Given the description of an element on the screen output the (x, y) to click on. 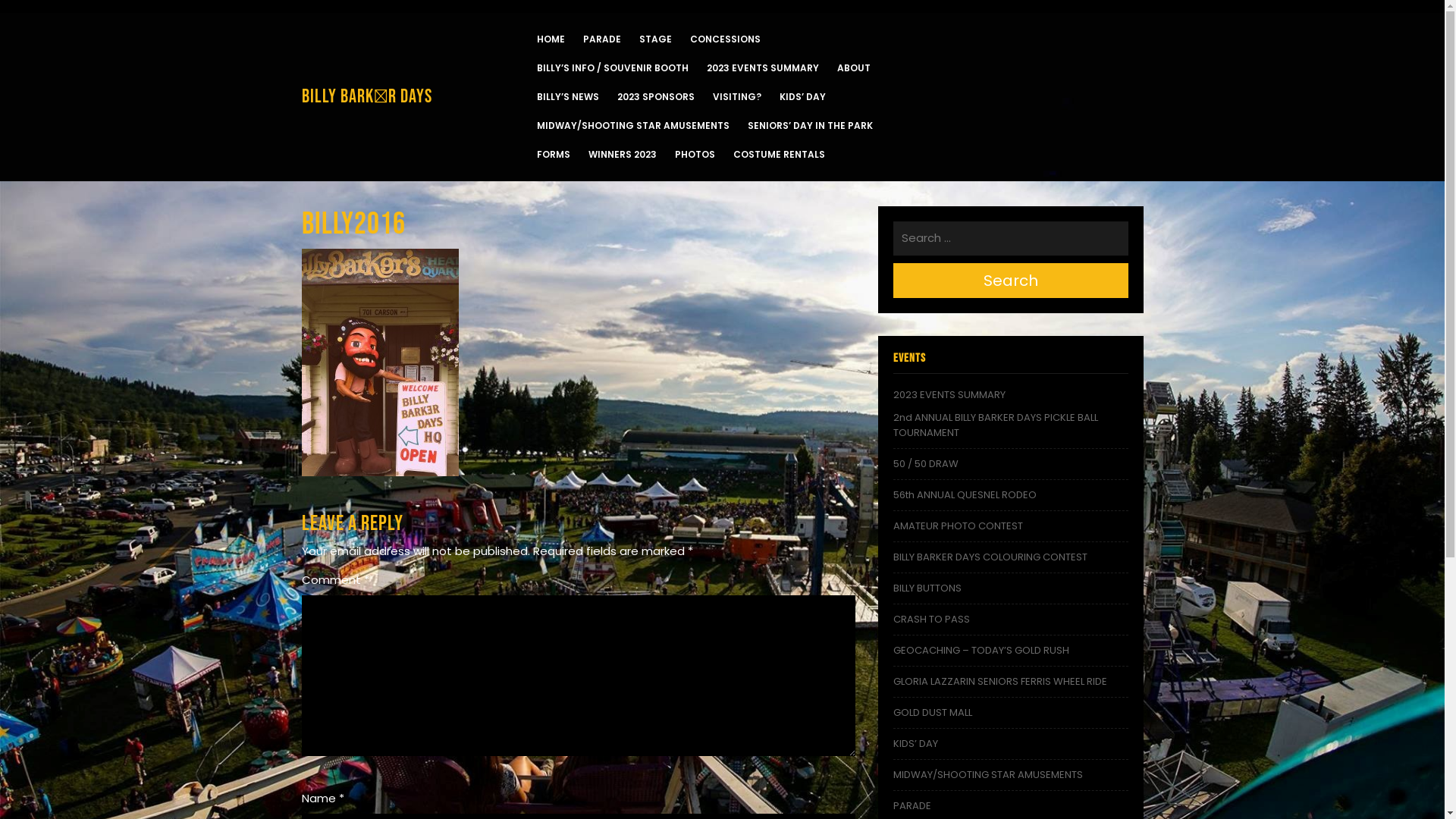
FORMS Element type: text (553, 154)
2023 EVENTS SUMMARY Element type: text (762, 68)
56th ANNUAL QUESNEL RODEO Element type: text (964, 494)
ABOUT Element type: text (853, 68)
GOLD DUST MALL Element type: text (932, 712)
WINNERS 2023 Element type: text (622, 154)
Search Element type: text (1010, 280)
2023 EVENTS SUMMARY Element type: text (949, 394)
GLORIA LAZZARIN SENIORS FERRIS WHEEL RIDE Element type: text (1000, 681)
CONCESSIONS Element type: text (725, 39)
2023 SPONSORS Element type: text (655, 96)
HOME Element type: text (550, 39)
MIDWAY/SHOOTING STAR AMUSEMENTS Element type: text (987, 774)
50 / 50 DRAW Element type: text (925, 463)
PHOTOS Element type: text (694, 154)
COSTUME RENTALS Element type: text (778, 154)
PARADE Element type: text (912, 805)
STAGE Element type: text (654, 39)
CRASH TO PASS Element type: text (931, 618)
2nd ANNUAL BILLY BARKER DAYS PICKLE BALL TOURNAMENT Element type: text (995, 424)
MIDWAY/SHOOTING STAR AMUSEMENTS Element type: text (632, 125)
BILLY BARKER DAYS COLOURING CONTEST Element type: text (990, 556)
BILLY BUTTONS Element type: text (927, 587)
AMATEUR PHOTO CONTEST Element type: text (957, 525)
VISITING? Element type: text (736, 96)
PARADE Element type: text (601, 39)
